Given the description of an element on the screen output the (x, y) to click on. 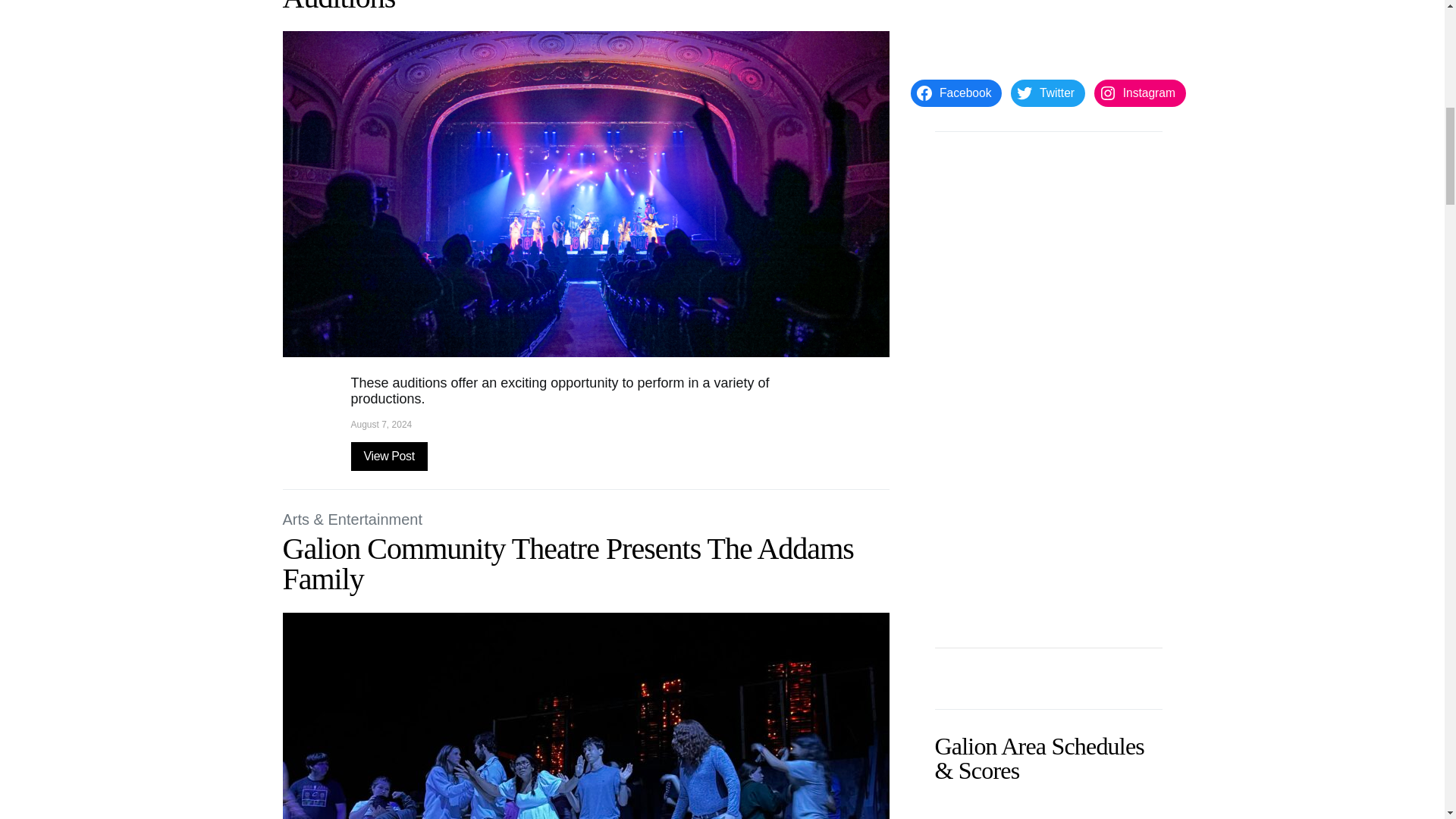
Renaissance Announces 2024-2025 Season Auditions (529, 7)
View Post (388, 456)
Galion Community Theatre Presents The Addams Family (567, 563)
